Given the description of an element on the screen output the (x, y) to click on. 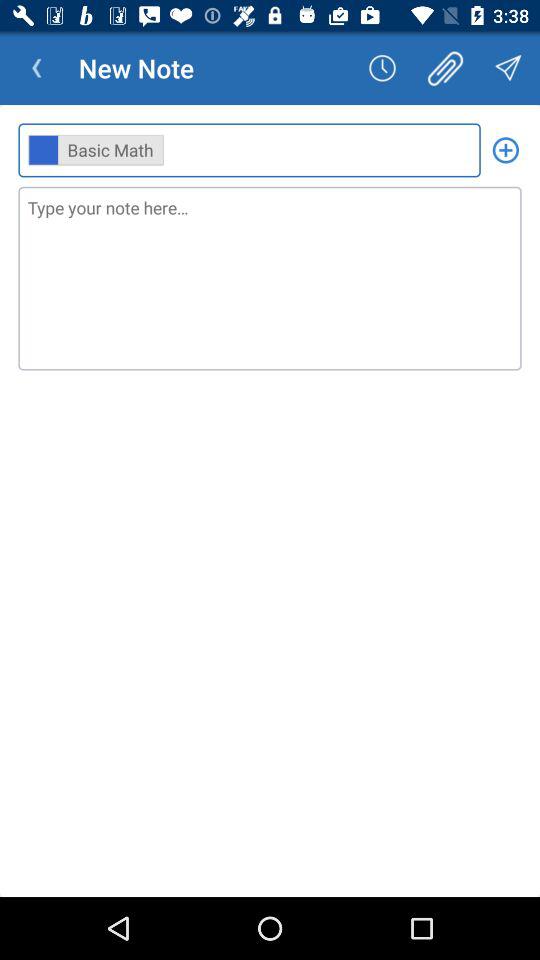
turn on the icon to the right of the ,, (505, 150)
